Given the description of an element on the screen output the (x, y) to click on. 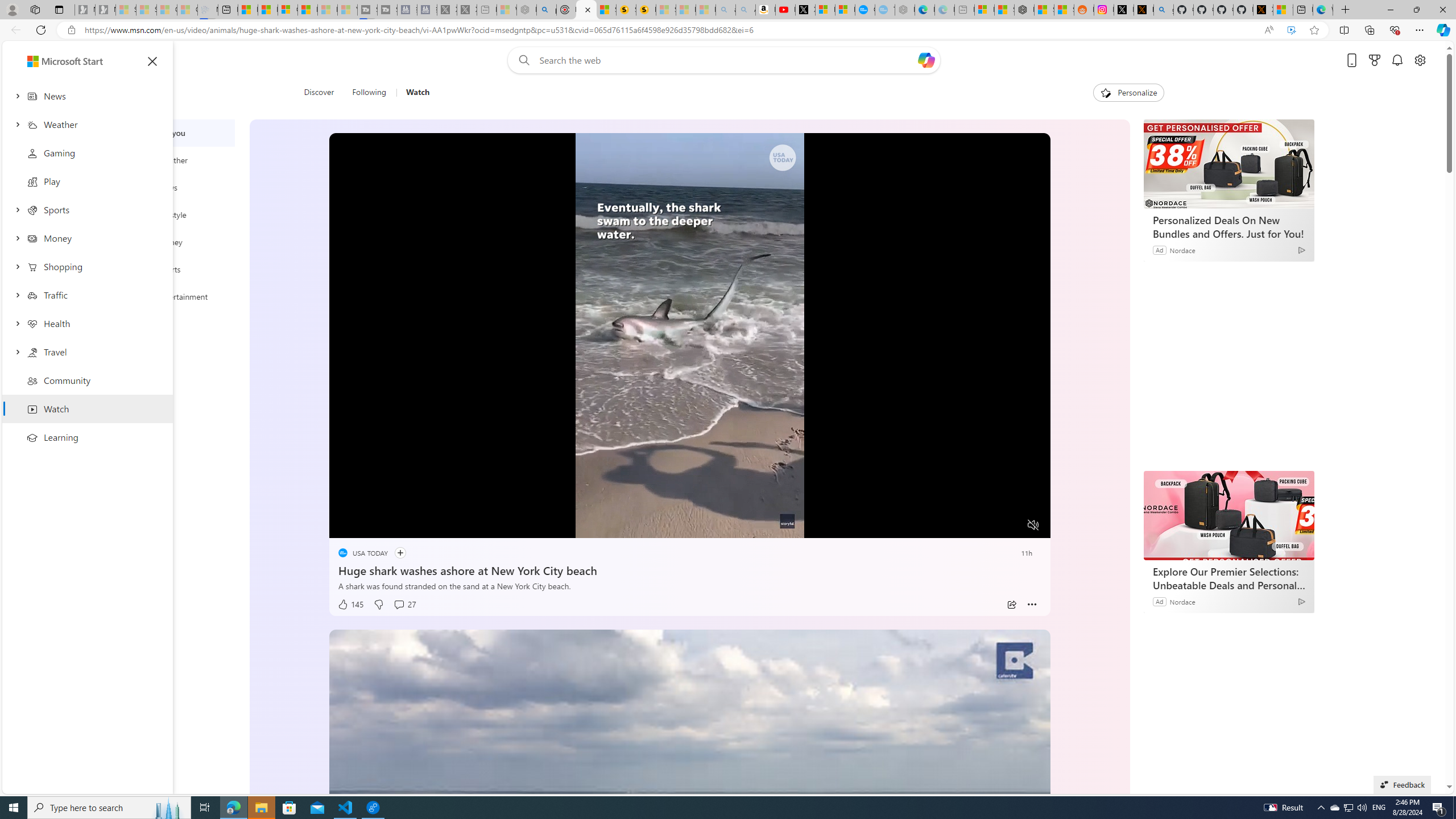
Welcome to Microsoft Edge (1322, 9)
Seek Back (368, 525)
Pause (346, 525)
Dislike (378, 604)
Shanghai, China Weather trends | Microsoft Weather (1063, 9)
Following (368, 92)
Fullscreen (1011, 525)
Huge shark washes ashore at New York City beach | Watch (586, 9)
Amazon Echo Dot PNG - Search Images - Sleeping (745, 9)
